Given the description of an element on the screen output the (x, y) to click on. 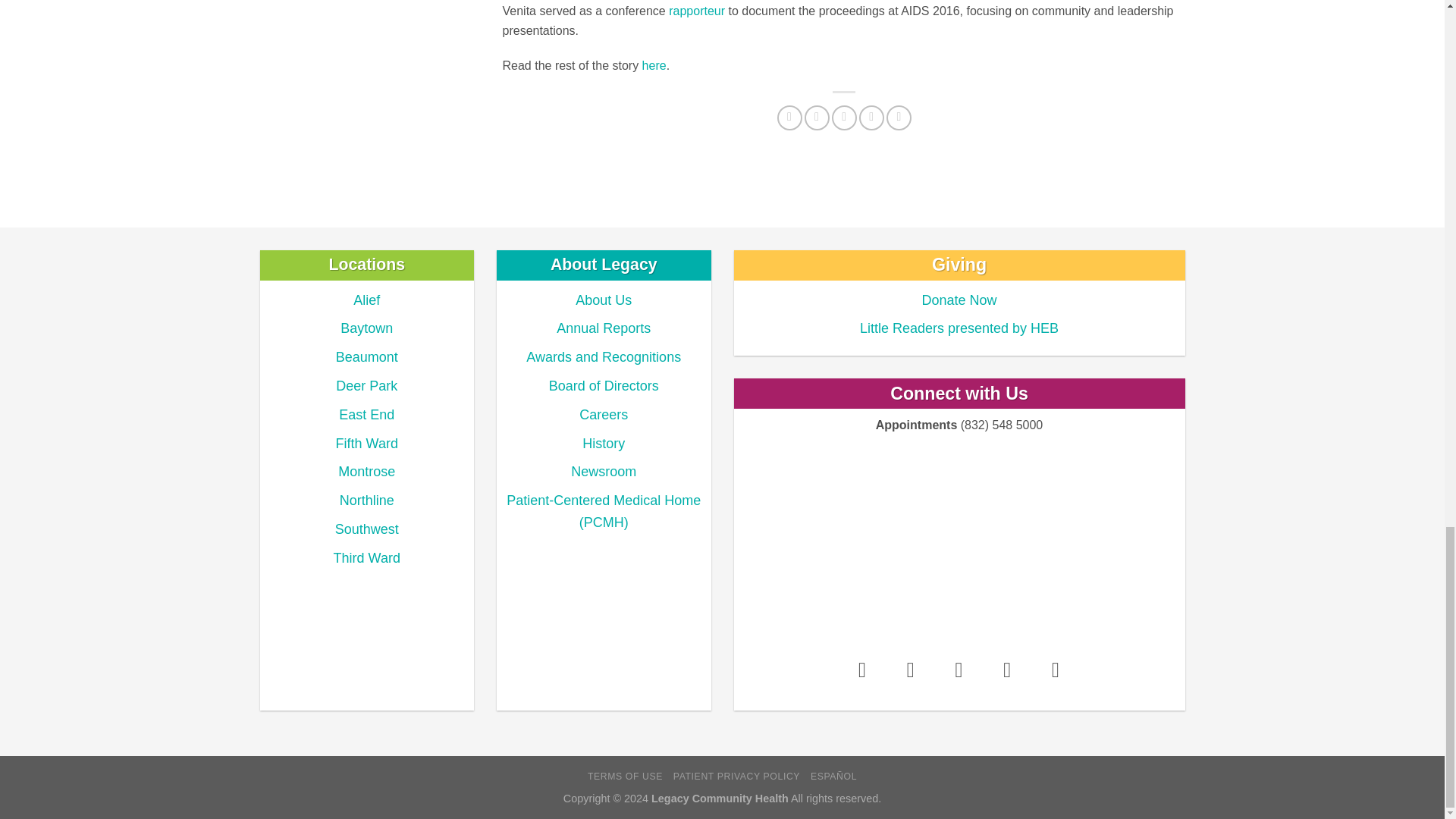
Share on Twitter (817, 117)
Email to a Friend (844, 117)
Share on Facebook (789, 117)
